Given the description of an element on the screen output the (x, y) to click on. 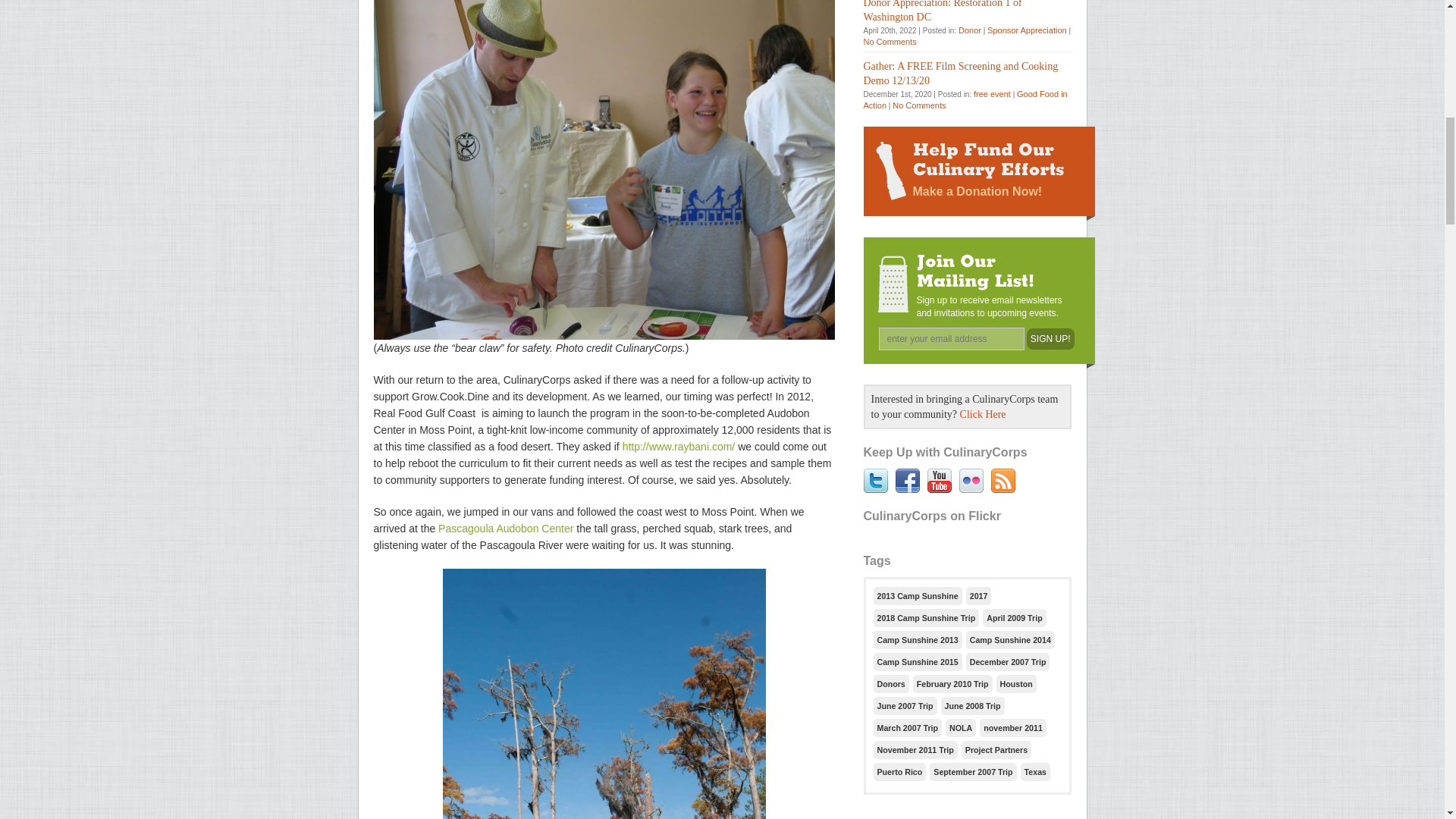
Pascagoula Audobon Center (507, 528)
Sign Up! (1050, 338)
